Given the description of an element on the screen output the (x, y) to click on. 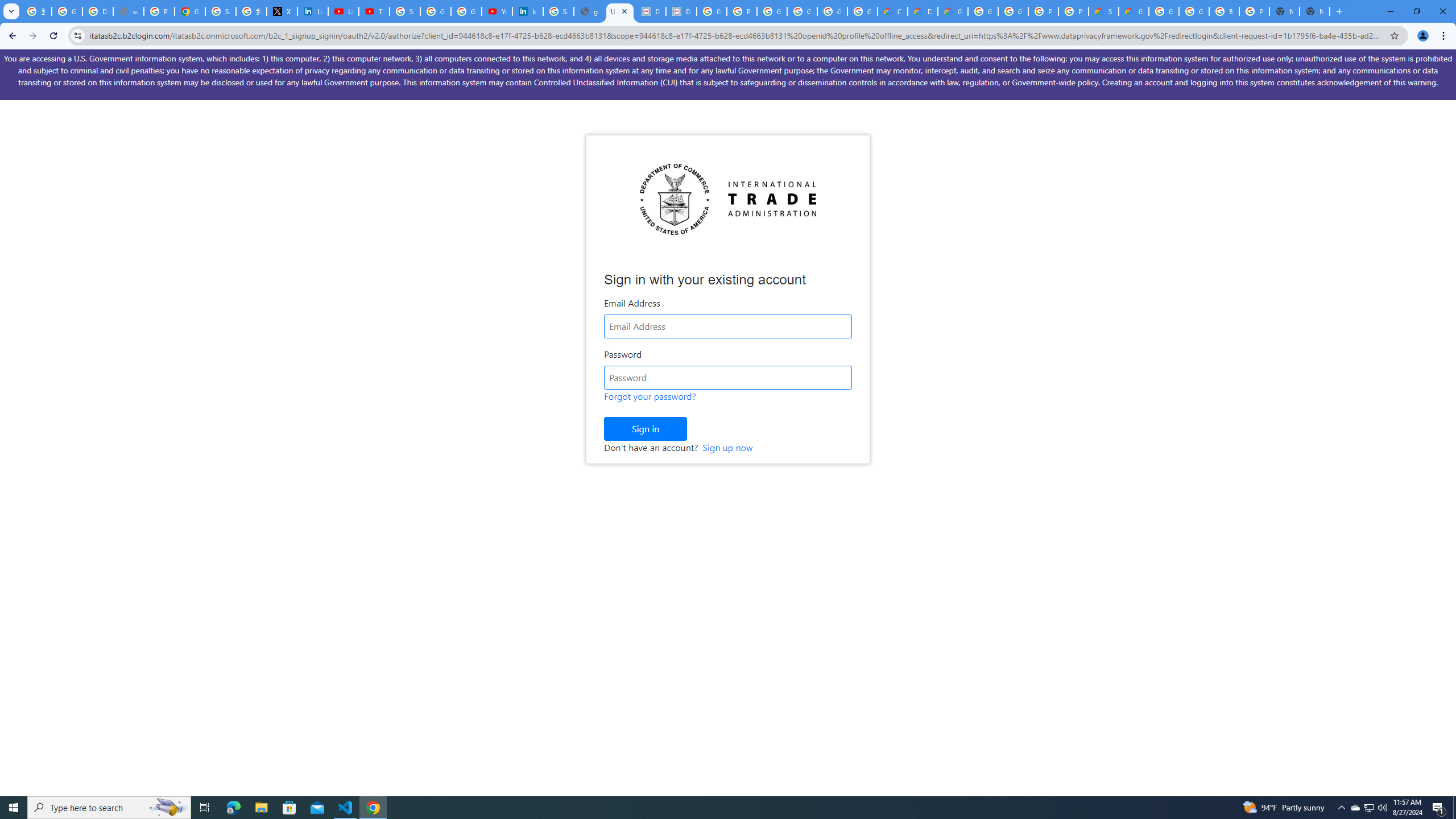
Gemini for Business and Developers | Google Cloud (952, 11)
Data Privacy Framework (681, 11)
Support Hub | Google Cloud (1103, 11)
Data Privacy Framework (650, 11)
Forgot your password? (649, 395)
